Given the description of an element on the screen output the (x, y) to click on. 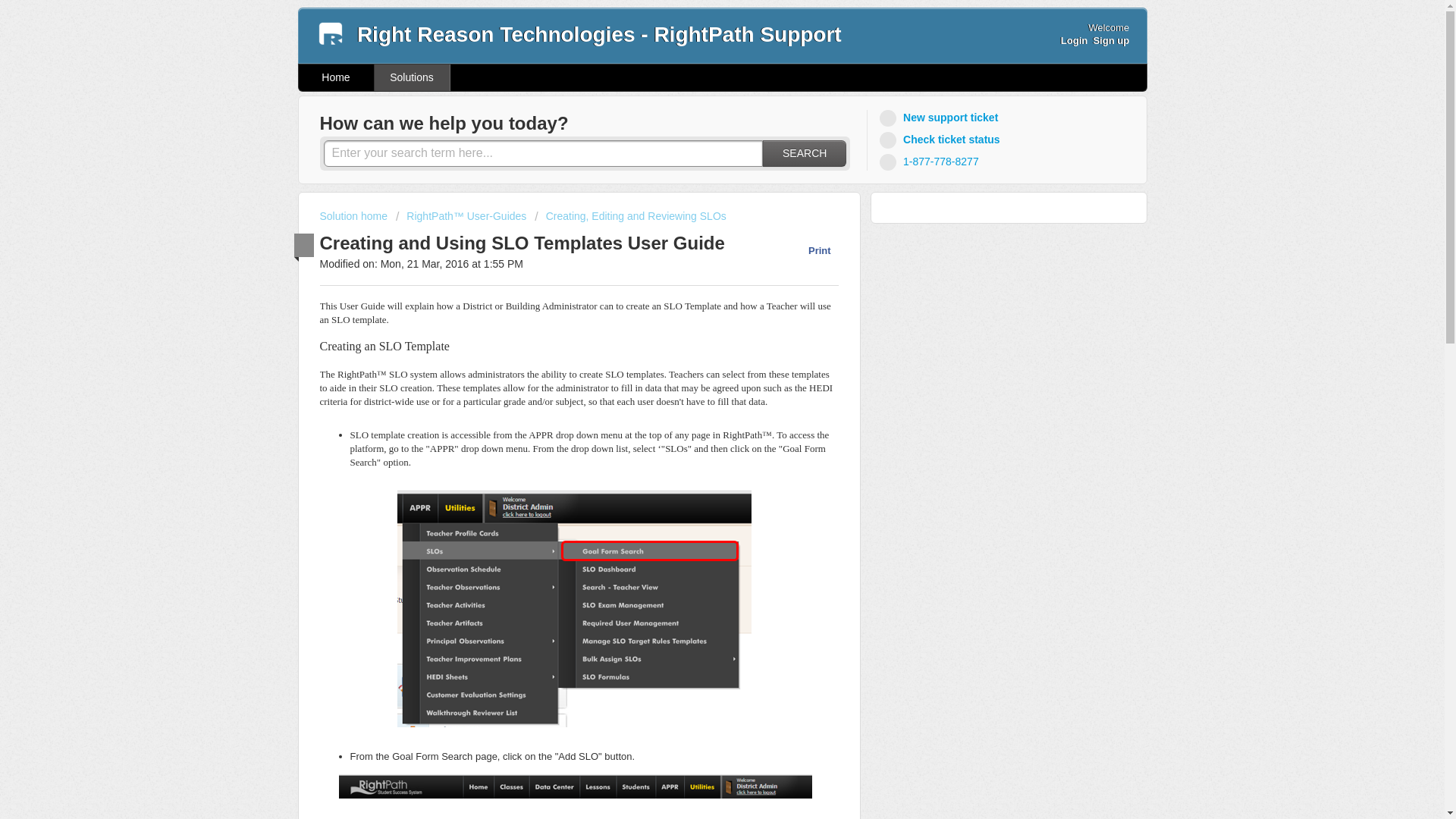
Print (812, 250)
Check ticket status (941, 139)
Login (1074, 40)
Creating, Editing and Reviewing SLOs (630, 215)
New support ticket (940, 117)
SEARCH (803, 153)
1-877-778-8277 (931, 161)
Solutions (411, 77)
Print this Article (812, 250)
Check ticket status (941, 139)
Solution home (355, 215)
New support ticket (940, 117)
Home (336, 77)
Sign up (1111, 40)
